Given the description of an element on the screen output the (x, y) to click on. 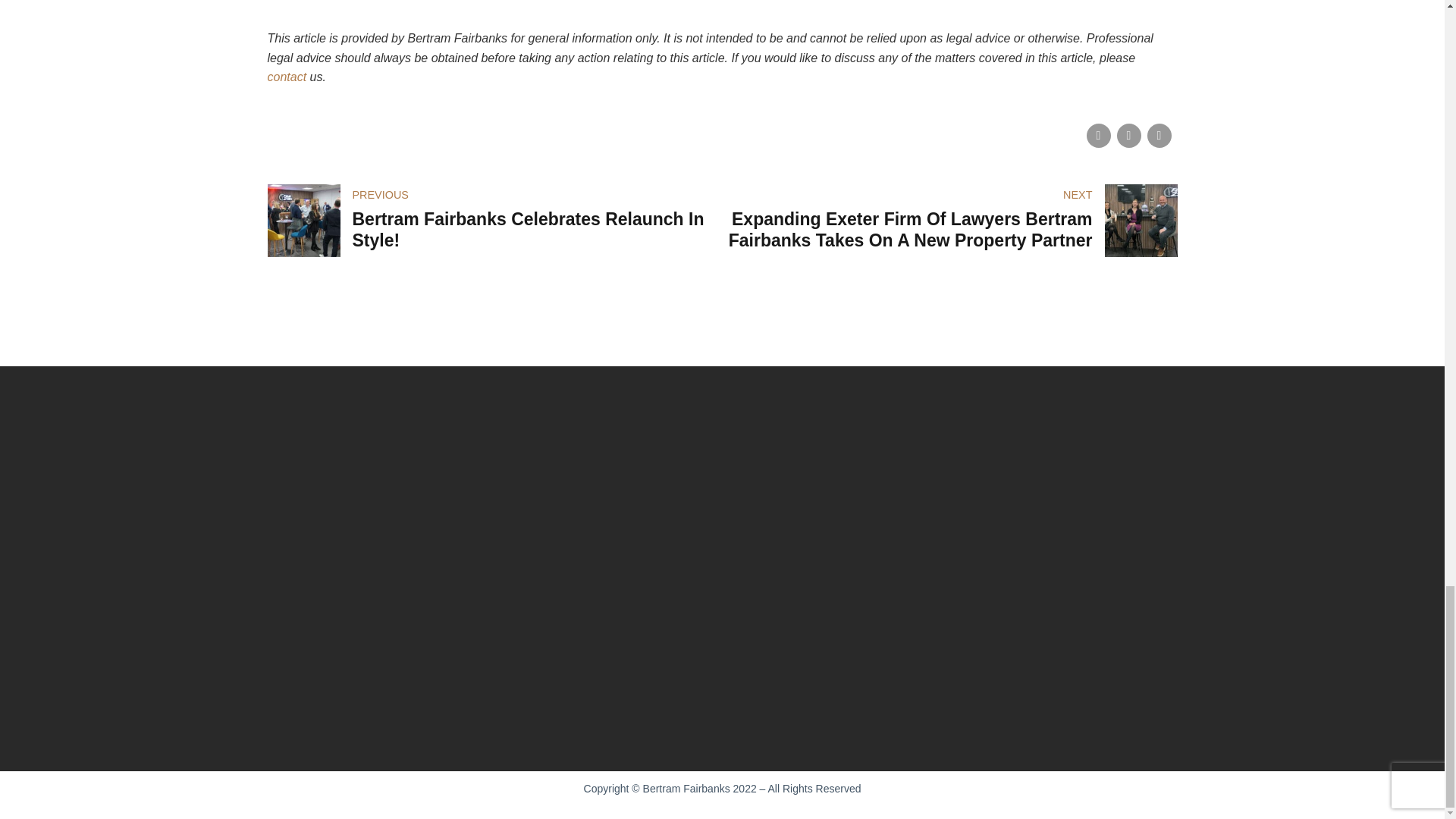
Share on Facebook (1097, 135)
Share on Twitter (494, 220)
contact (1128, 135)
Share on Linkedin (285, 76)
